Given the description of an element on the screen output the (x, y) to click on. 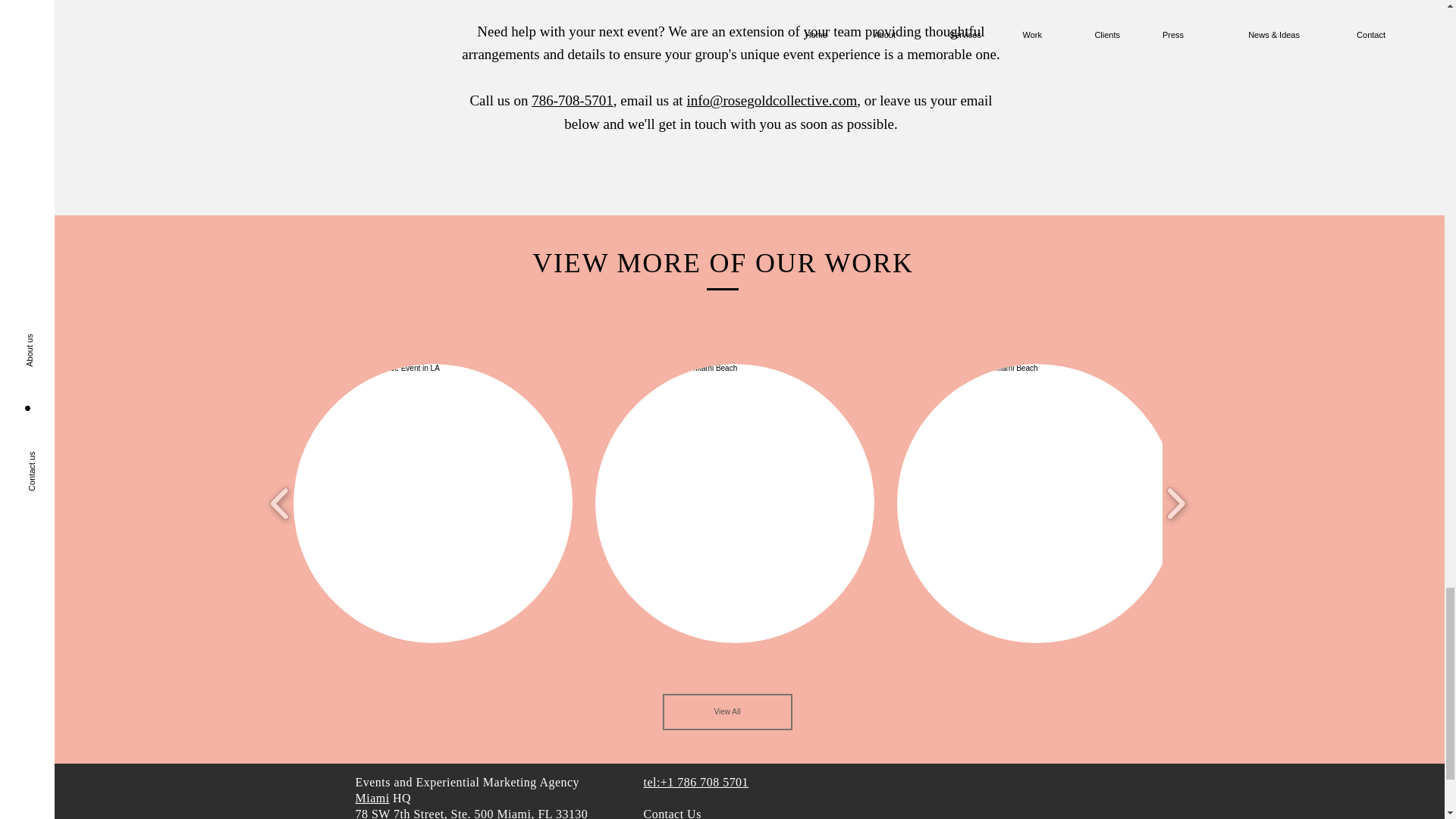
Miami (371, 797)
View All (727, 711)
786-708-5701 (571, 100)
78 SW 7th Street, Ste. 500 Miami, FL 33130 (471, 813)
Contact Us (671, 813)
